Given the description of an element on the screen output the (x, y) to click on. 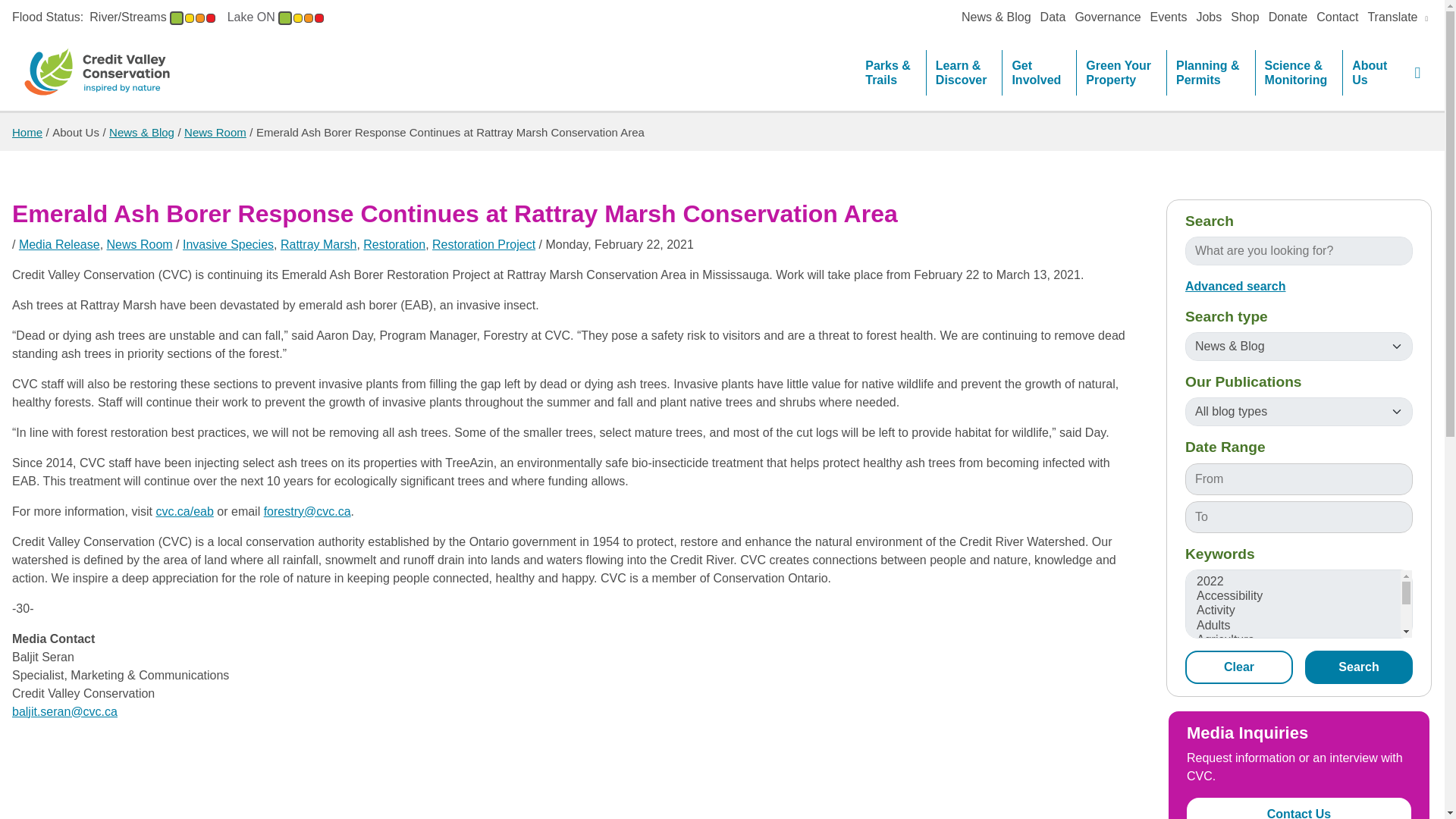
Search (1358, 666)
Translate (1397, 17)
Contact (1336, 17)
Events (1168, 17)
Jobs (1208, 17)
More Information (275, 17)
Shop (1244, 17)
Data (1052, 17)
Lake ON (275, 17)
Governance (1107, 17)
Donate (1288, 17)
Clear (1238, 666)
